Given the description of an element on the screen output the (x, y) to click on. 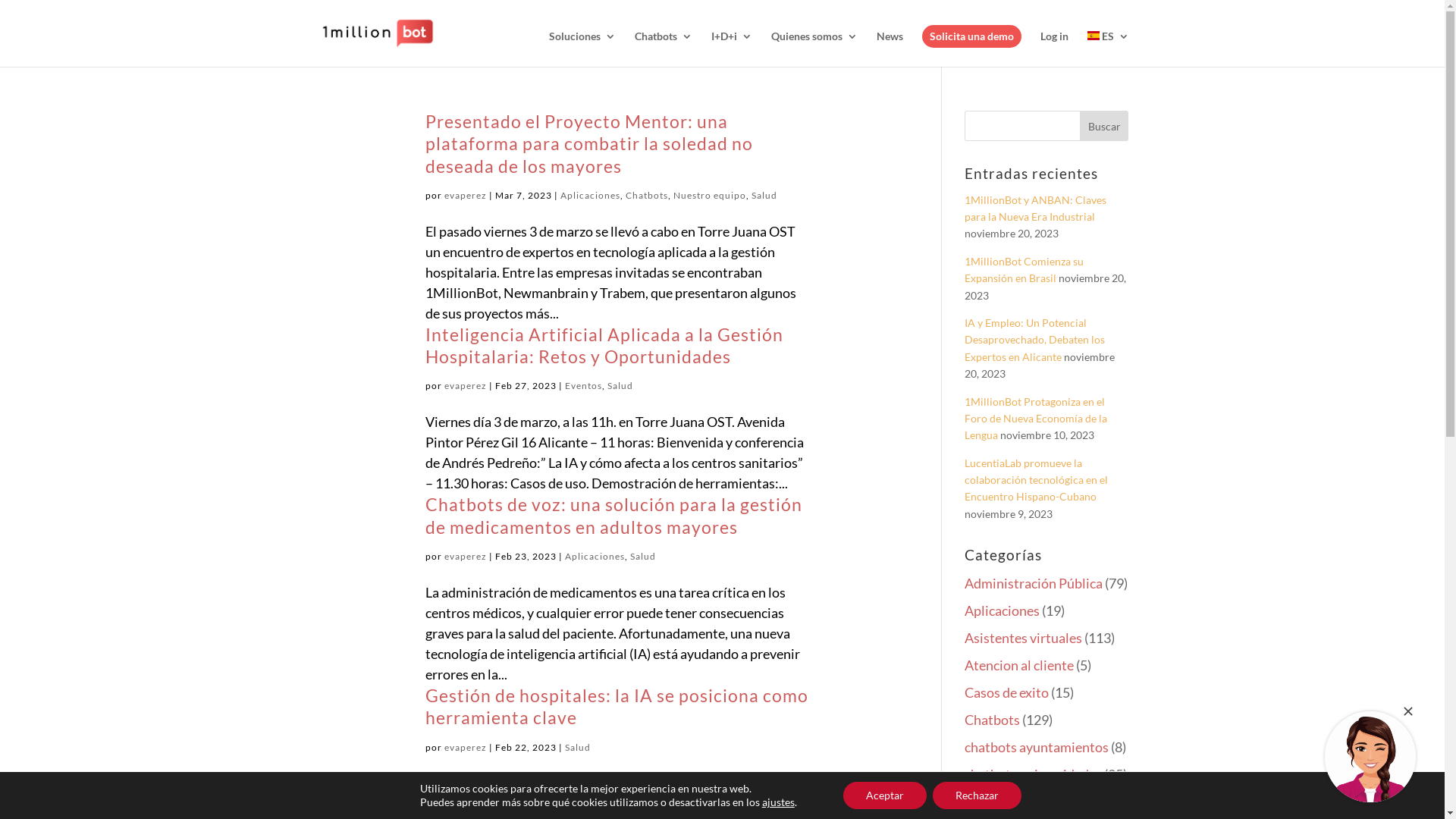
Nuestro equipo Element type: text (709, 194)
Atencion al cliente Element type: text (1018, 664)
Aplicaciones Element type: text (589, 194)
Salud Element type: text (619, 385)
Chatbots Element type: text (662, 48)
chatbots universidades Element type: text (1032, 773)
chatbots ayuntamientos Element type: text (1036, 746)
Salud Element type: text (642, 555)
Soluciones Element type: text (582, 48)
Aplicaciones Element type: text (594, 555)
Buscar Element type: text (1104, 125)
Asistentes virtuales Element type: text (1023, 637)
Quienes somos Element type: text (813, 48)
Casos de exito Element type: text (1006, 692)
Aceptar Element type: text (884, 795)
Aplicaciones Element type: text (1001, 610)
evaperez Element type: text (465, 385)
ES Element type: text (1108, 48)
Chatbots Element type: text (645, 194)
News Element type: text (889, 48)
1MillionBot y ANBAN: Claves para la Nueva Era Industrial Element type: text (1035, 207)
evaperez Element type: text (465, 555)
Rechazar Element type: text (976, 795)
Salud Element type: text (576, 747)
evaperez Element type: text (465, 747)
evaperez Element type: text (465, 194)
I+D+i Element type: text (731, 48)
Salud Element type: text (763, 194)
Log in Element type: text (1054, 48)
Eventos Element type: text (582, 385)
Chatbots Element type: text (991, 719)
Solicita una demo Element type: text (971, 36)
ajustes Element type: text (778, 802)
